Given the description of an element on the screen output the (x, y) to click on. 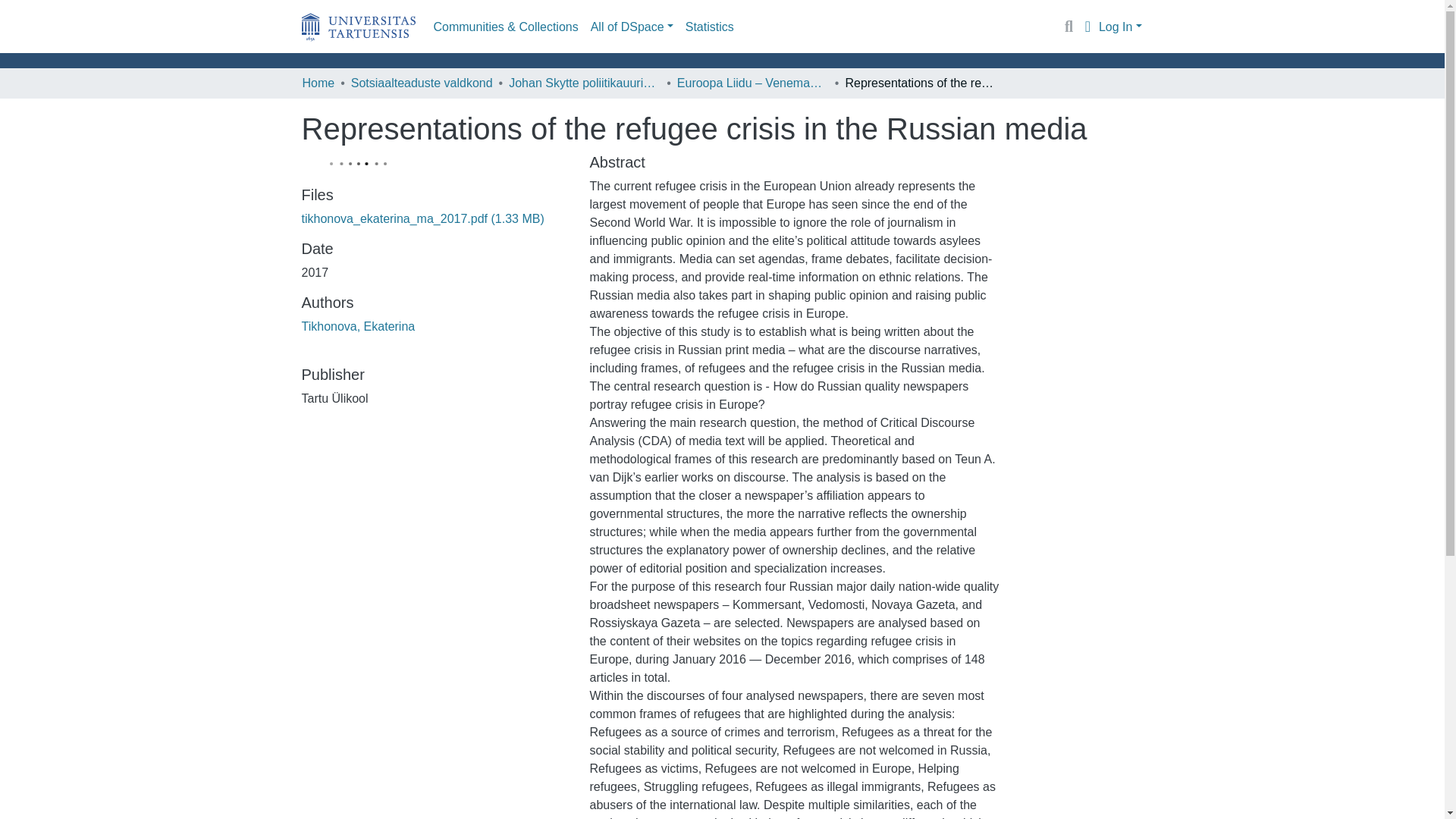
Tikhonova, Ekaterina (357, 326)
Search (1068, 27)
Statistics (709, 27)
Log In (1119, 25)
All of DSpace (632, 27)
Sotsiaalteaduste valdkond (421, 83)
Johan Skytte poliitikauuringute instituut (584, 83)
Language switch (1087, 27)
Home (317, 83)
Statistics (709, 27)
